Given the description of an element on the screen output the (x, y) to click on. 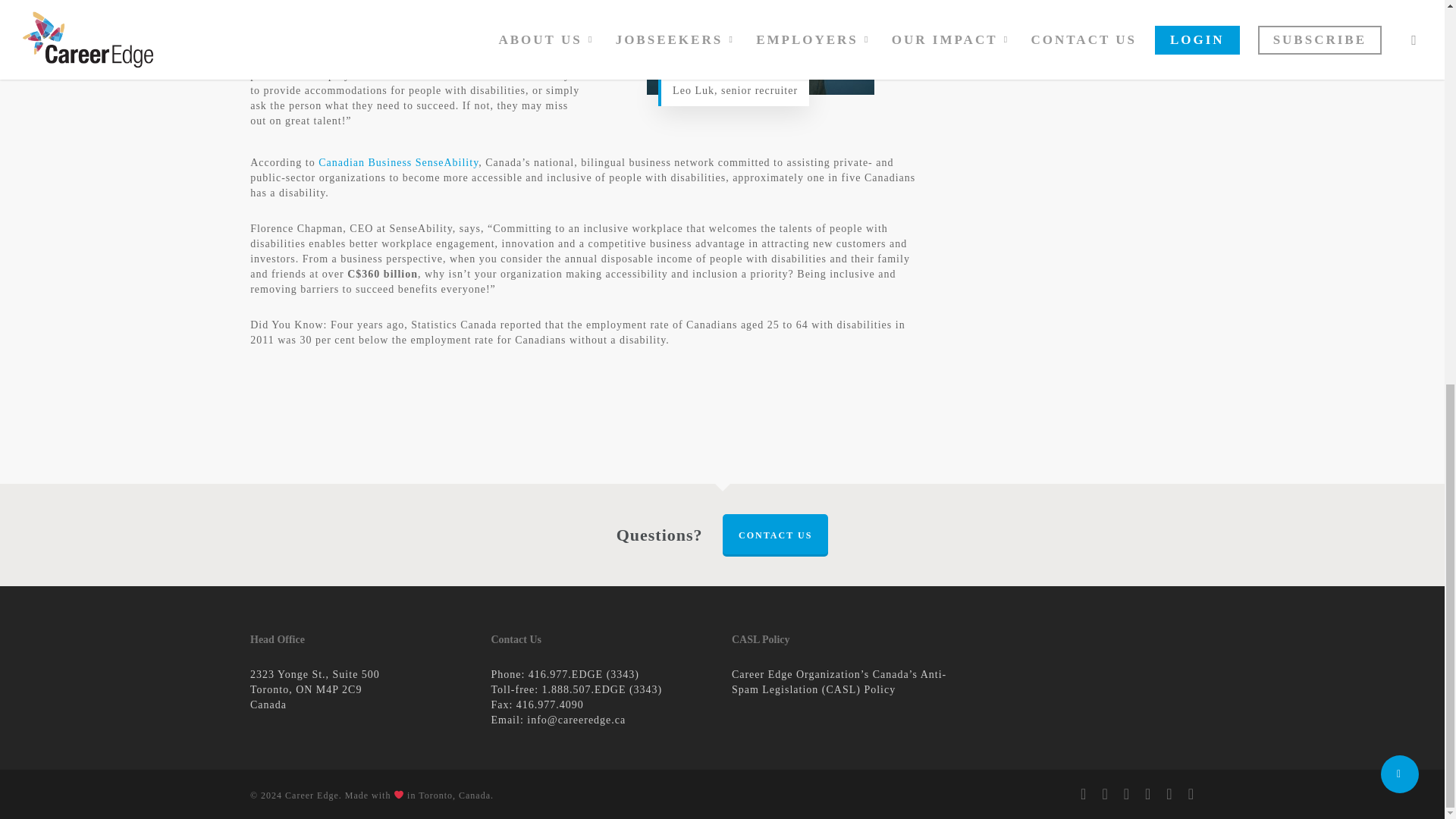
Canadian Business SenseAbility (398, 162)
CONTACT US (775, 535)
